Given the description of an element on the screen output the (x, y) to click on. 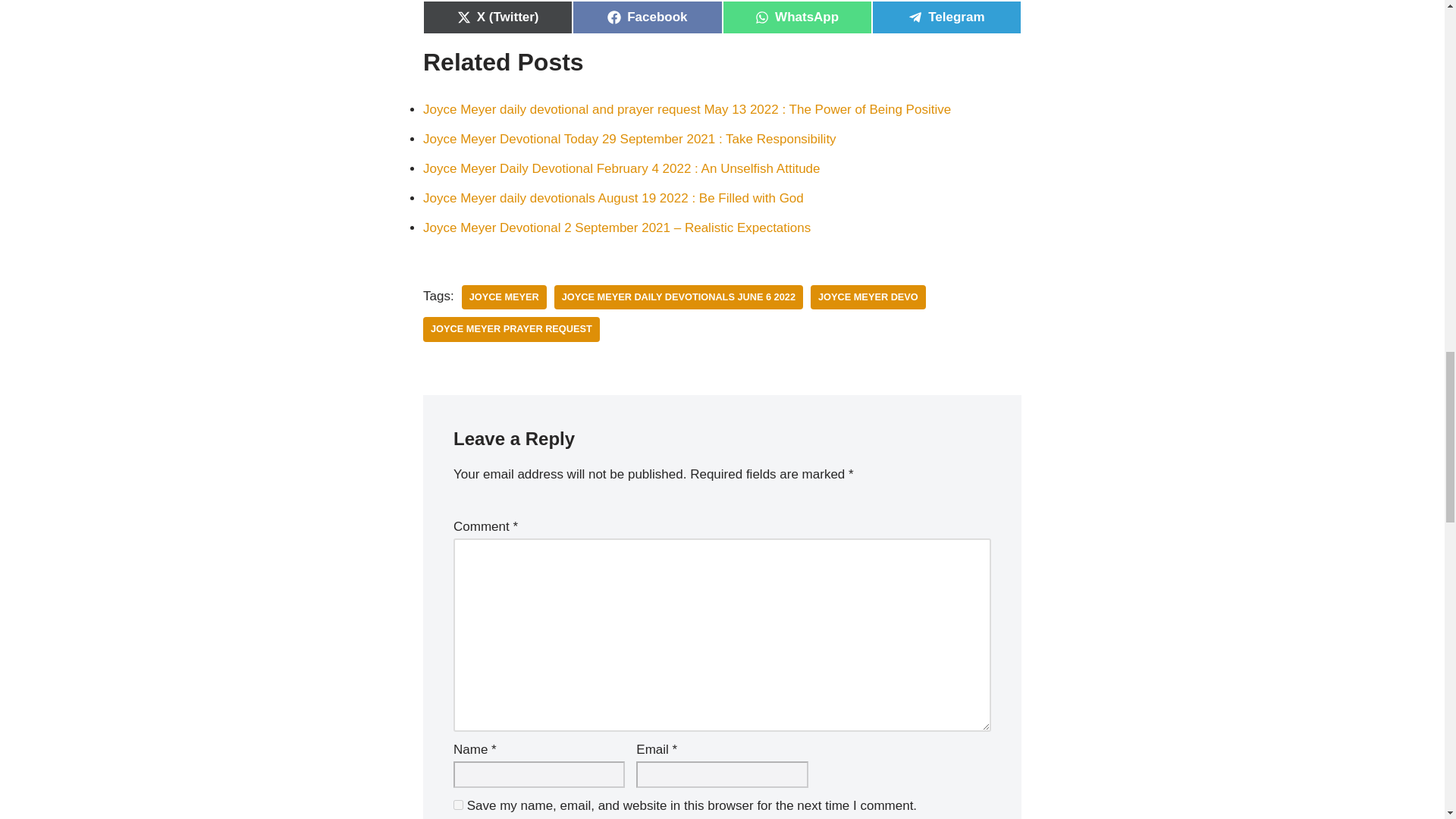
Facebook (647, 17)
Telegram (947, 17)
WhatsApp (796, 17)
JOYCE MEYER PRAYER REQUEST (511, 329)
yes (457, 804)
Joyce Meyer Daily Devotionals June 6 2022 (678, 297)
JOYCE MEYER DAILY DEVOTIONALS JUNE 6 2022 (678, 297)
JOYCE MEYER (504, 297)
Joyce Meyer (504, 297)
Joyce Meyer Devo (868, 297)
JOYCE MEYER DEVO (868, 297)
